Given the description of an element on the screen output the (x, y) to click on. 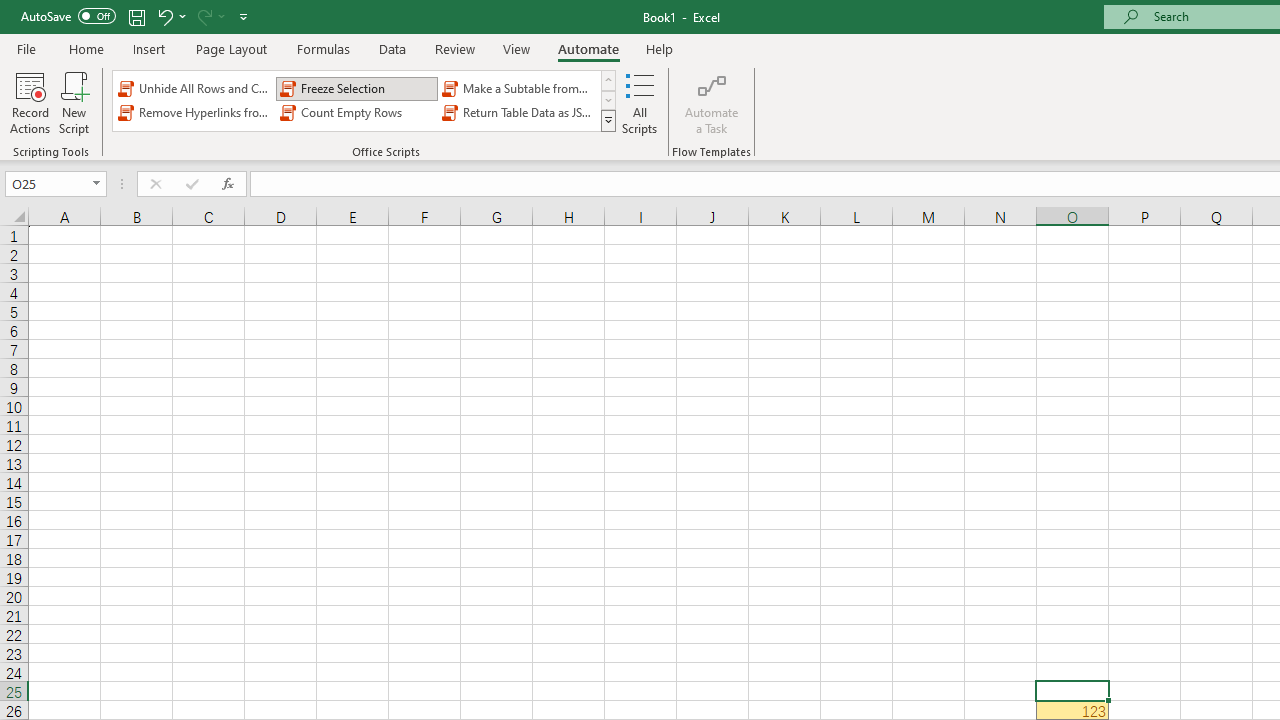
Home (86, 48)
Undo (164, 15)
Open (96, 183)
System (10, 11)
Count Empty Rows (356, 112)
Customize Quick Access Toolbar (244, 15)
Quick Access Toolbar (136, 16)
File Tab (26, 48)
Remove Hyperlinks from Sheet (194, 112)
